Given the description of an element on the screen output the (x, y) to click on. 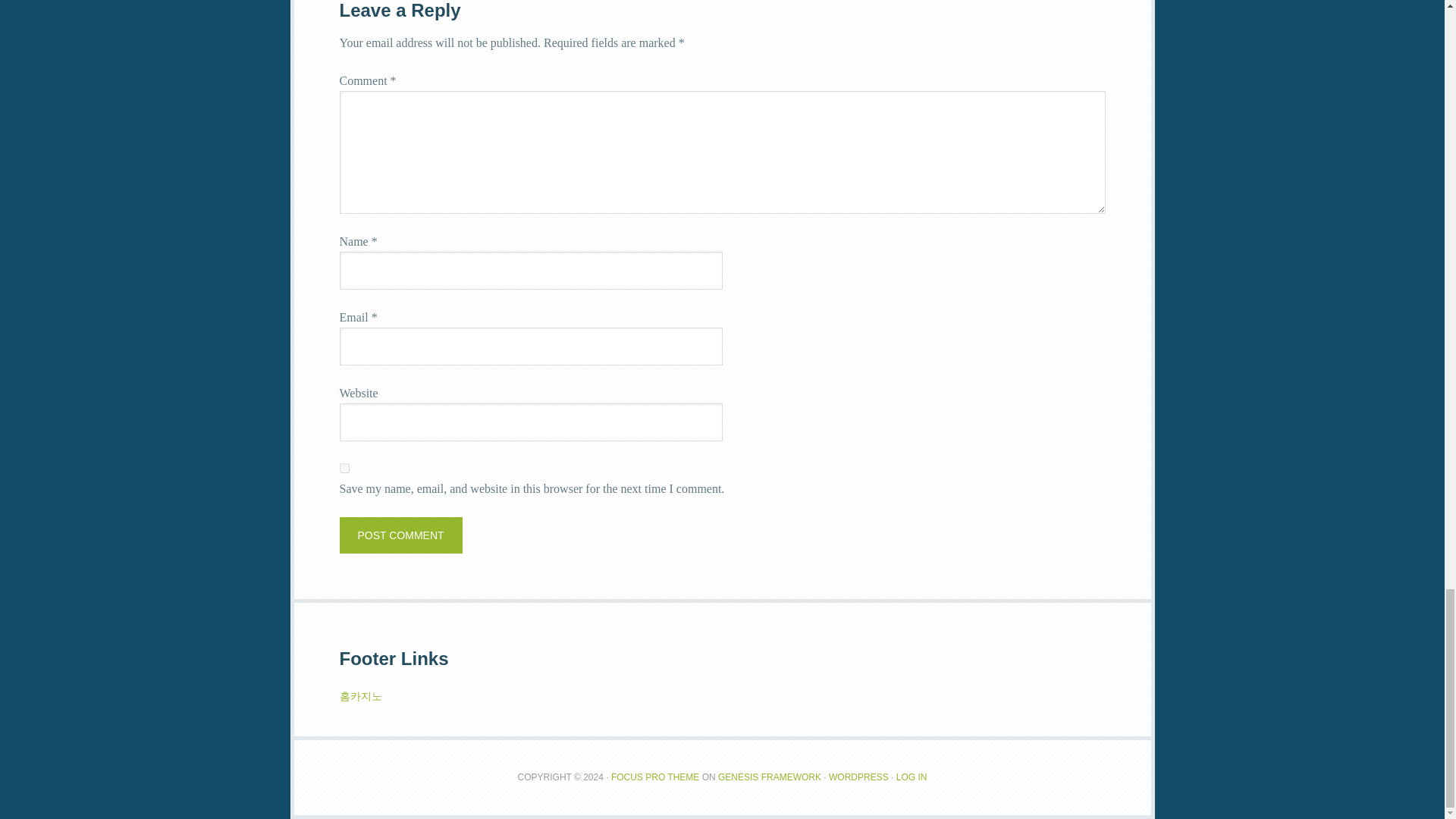
yes (344, 468)
GENESIS FRAMEWORK (769, 777)
Post Comment (401, 534)
LOG IN (911, 777)
WORDPRESS (858, 777)
Post Comment (401, 534)
FOCUS PRO THEME (654, 777)
